Given the description of an element on the screen output the (x, y) to click on. 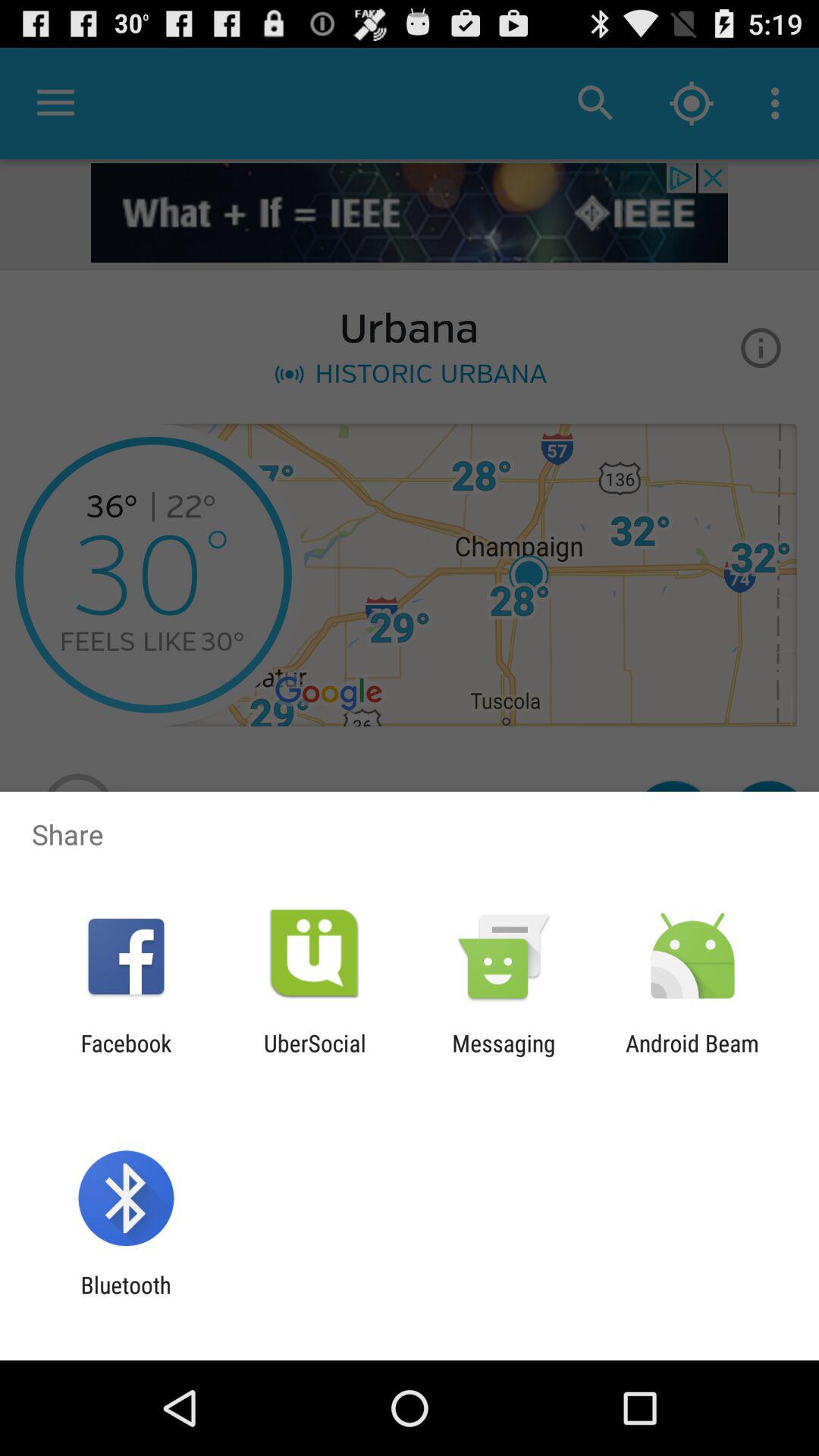
click the icon to the left of android beam item (503, 1056)
